Given the description of an element on the screen output the (x, y) to click on. 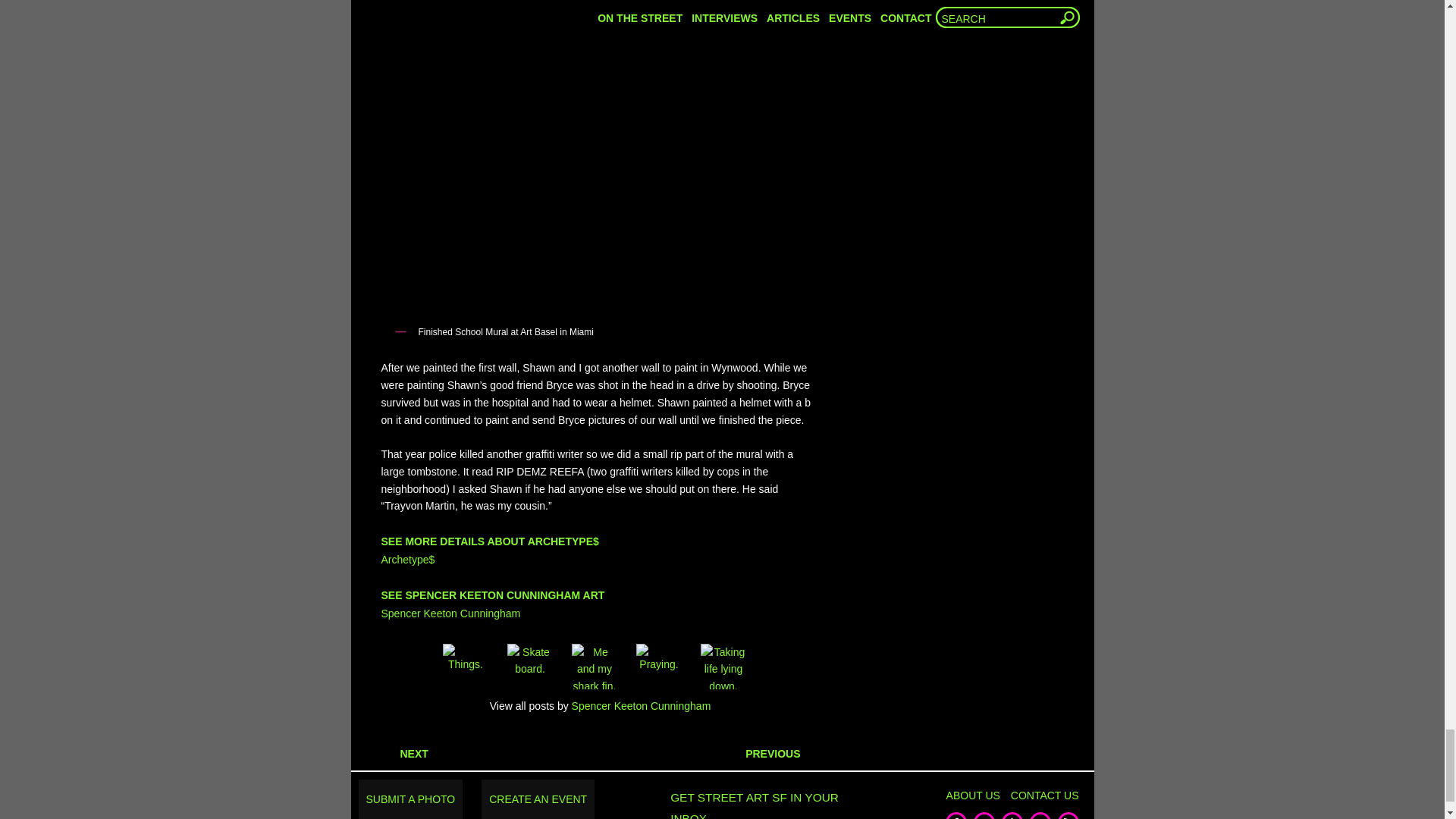
Spencer Keeton Cunningham (641, 705)
Things.   (465, 665)
  Praying.    (658, 665)
  Me and my shark fin.   (594, 665)
Spencer Keeton Cunningham (449, 613)
Taking life lying down.   (723, 665)
Skate board.  (529, 665)
NEXT (404, 753)
